Given the description of an element on the screen output the (x, y) to click on. 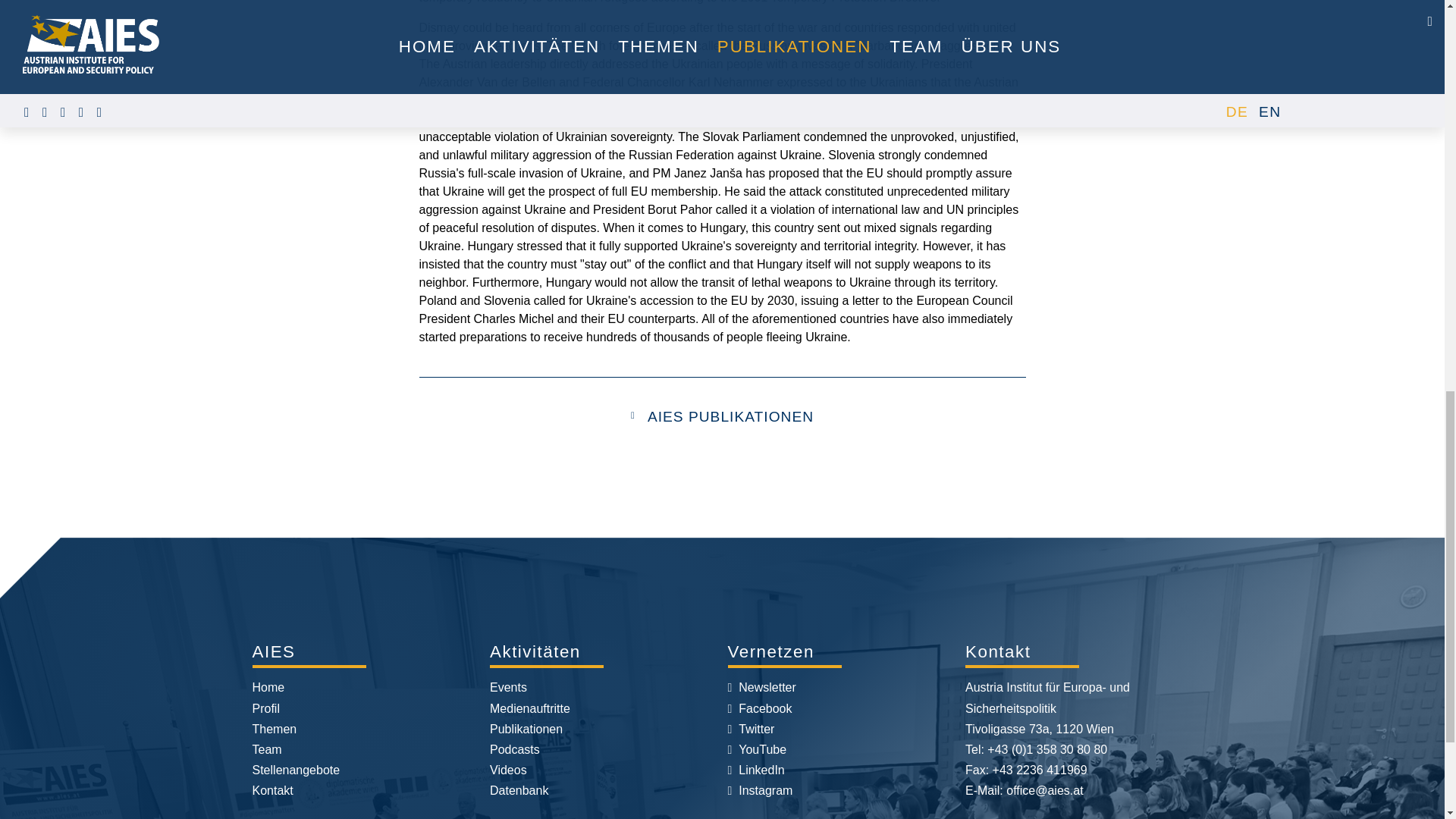
Home (267, 686)
AIES PUBLIKATIONEN (730, 416)
Profil (265, 707)
Themen (274, 728)
